Given the description of an element on the screen output the (x, y) to click on. 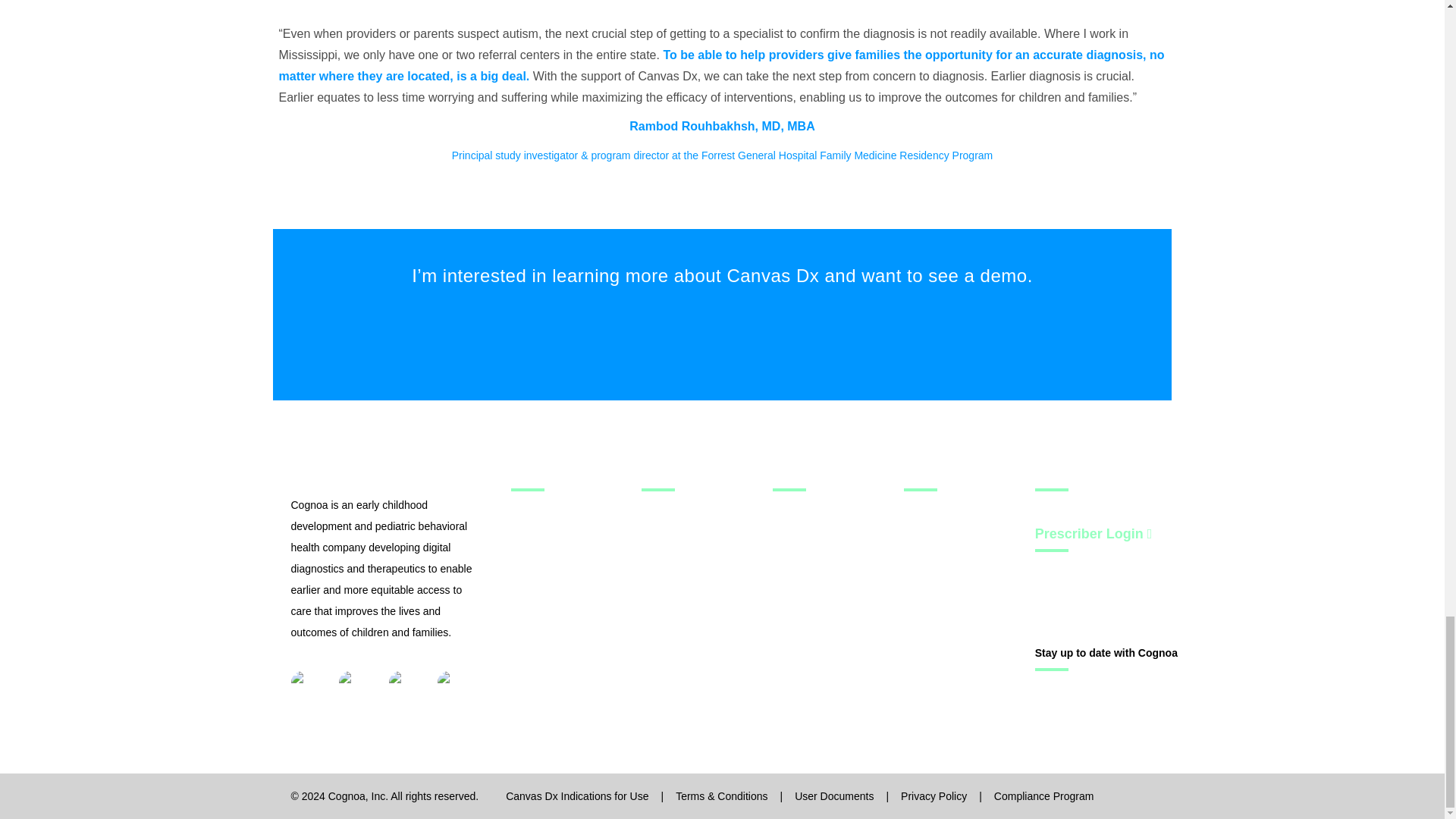
Clinical Research (570, 515)
Technology (832, 482)
Performance Metrics (570, 548)
Press (963, 515)
For Families (701, 482)
About Us (963, 482)
Contact (963, 648)
Careers (963, 615)
For Clinicians (570, 482)
Our Team (963, 548)
